Given the description of an element on the screen output the (x, y) to click on. 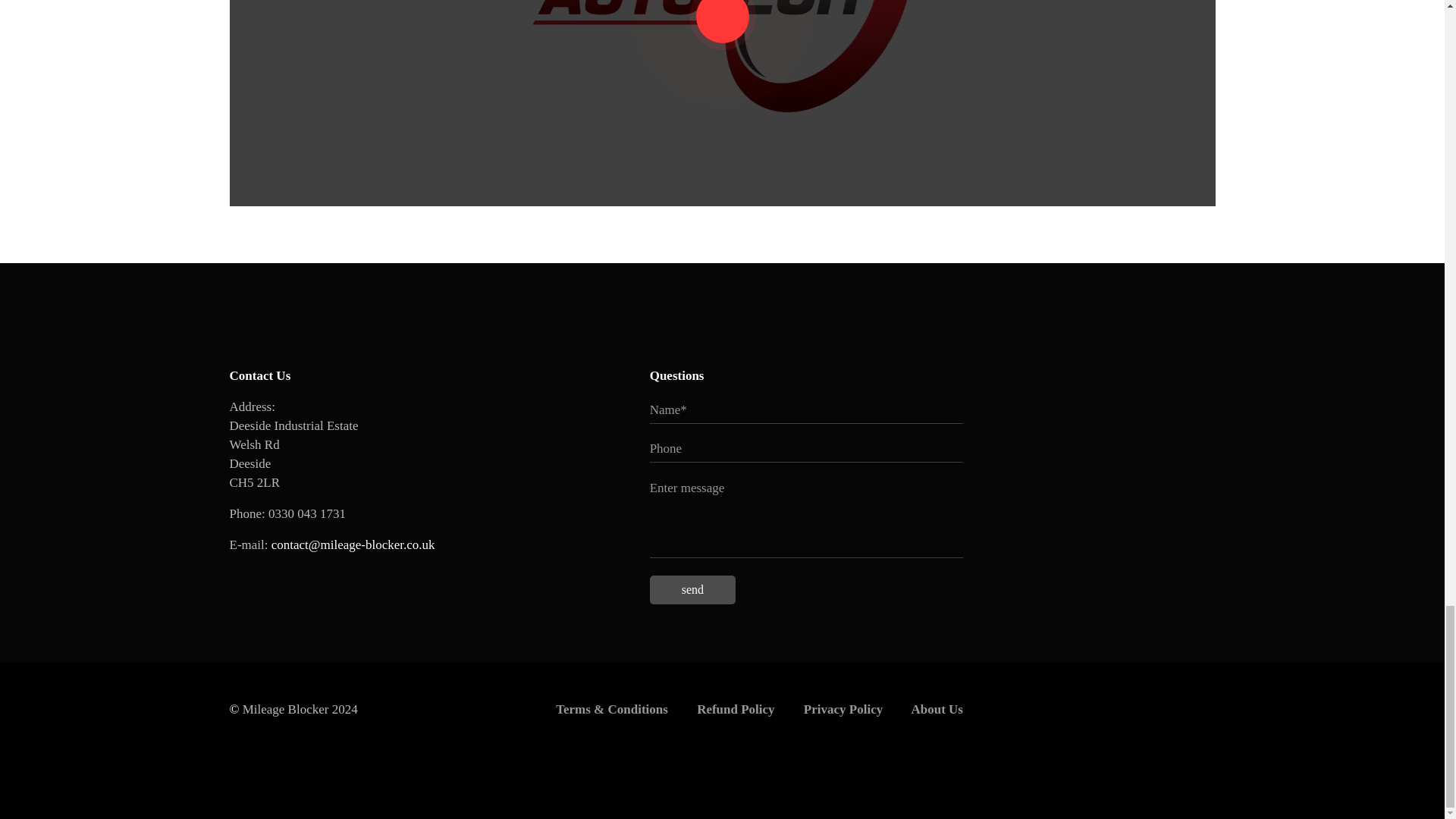
 Facebook 3d Logo qube for link to social media platform (317, 574)
send (692, 589)
Twitter 3d Logo qube for link to social media platform (260, 574)
Instagram 3d Logo qube for link to social media platform (374, 574)
